Given the description of an element on the screen output the (x, y) to click on. 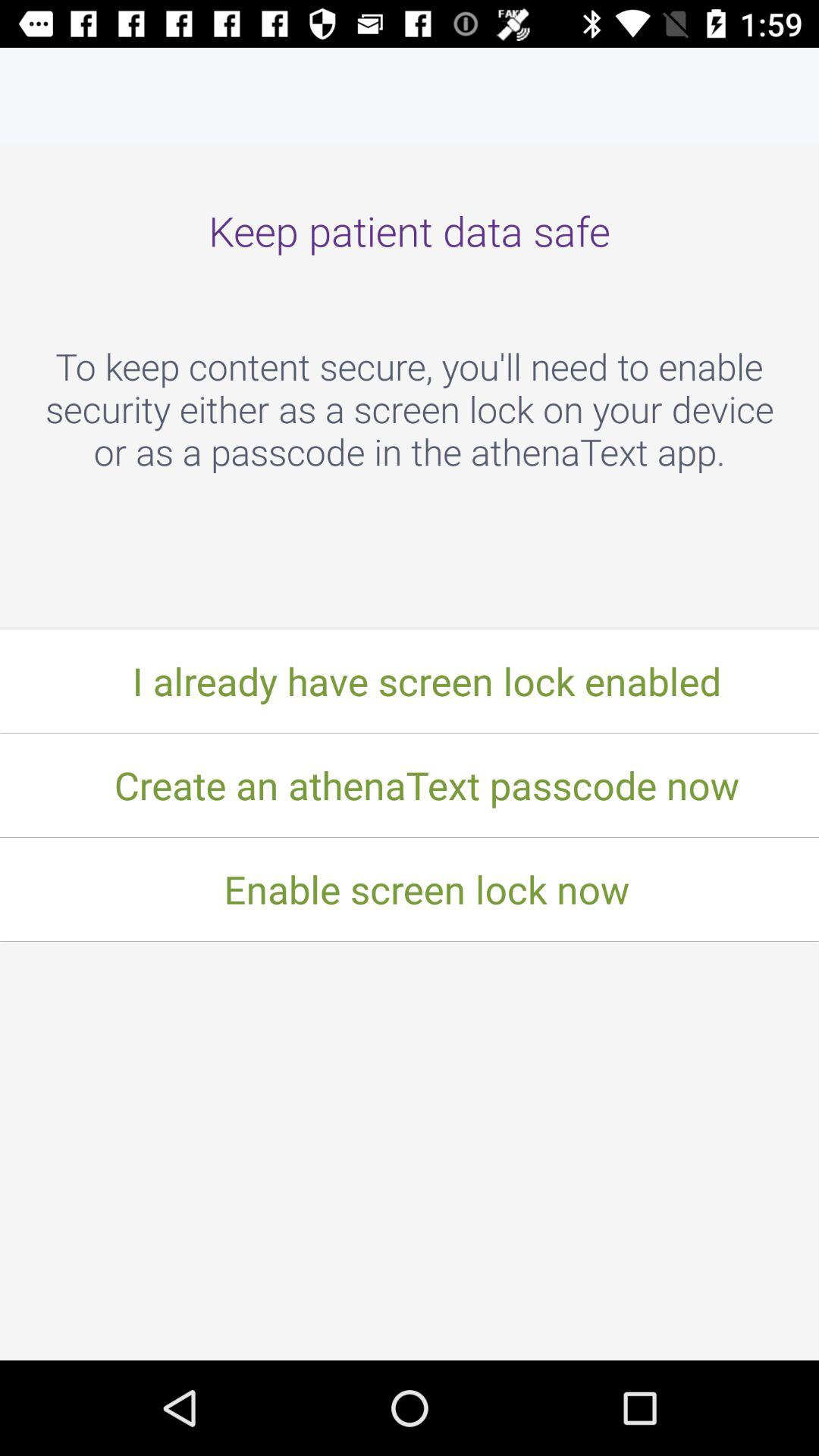
launch the item below i already have item (409, 785)
